Given the description of an element on the screen output the (x, y) to click on. 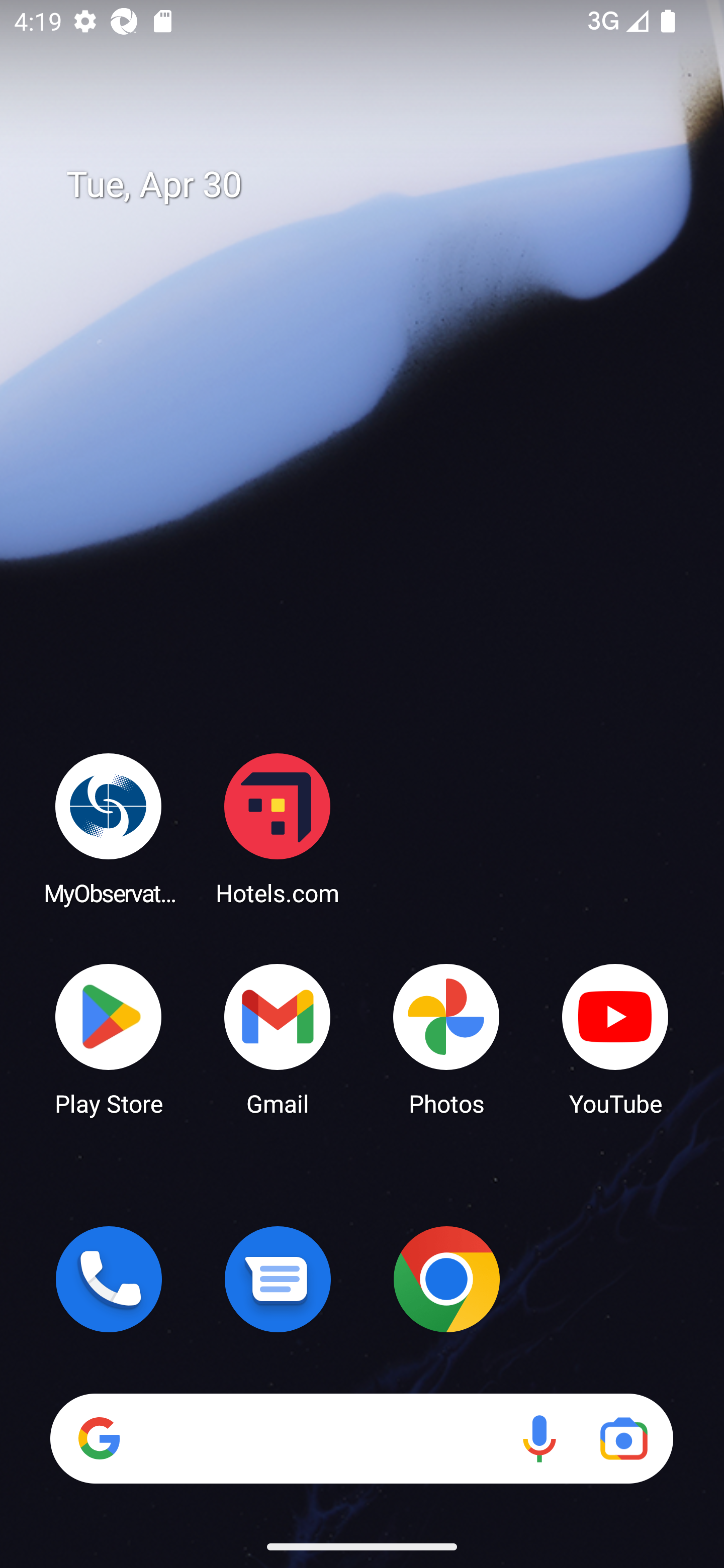
Tue, Apr 30 (375, 184)
MyObservatory (108, 828)
Hotels.com (277, 828)
Play Store (108, 1038)
Gmail (277, 1038)
Photos (445, 1038)
YouTube (615, 1038)
Phone (108, 1279)
Messages (277, 1279)
Chrome (446, 1279)
Search Voice search Google Lens (361, 1438)
Voice search (539, 1438)
Google Lens (623, 1438)
